Given the description of an element on the screen output the (x, y) to click on. 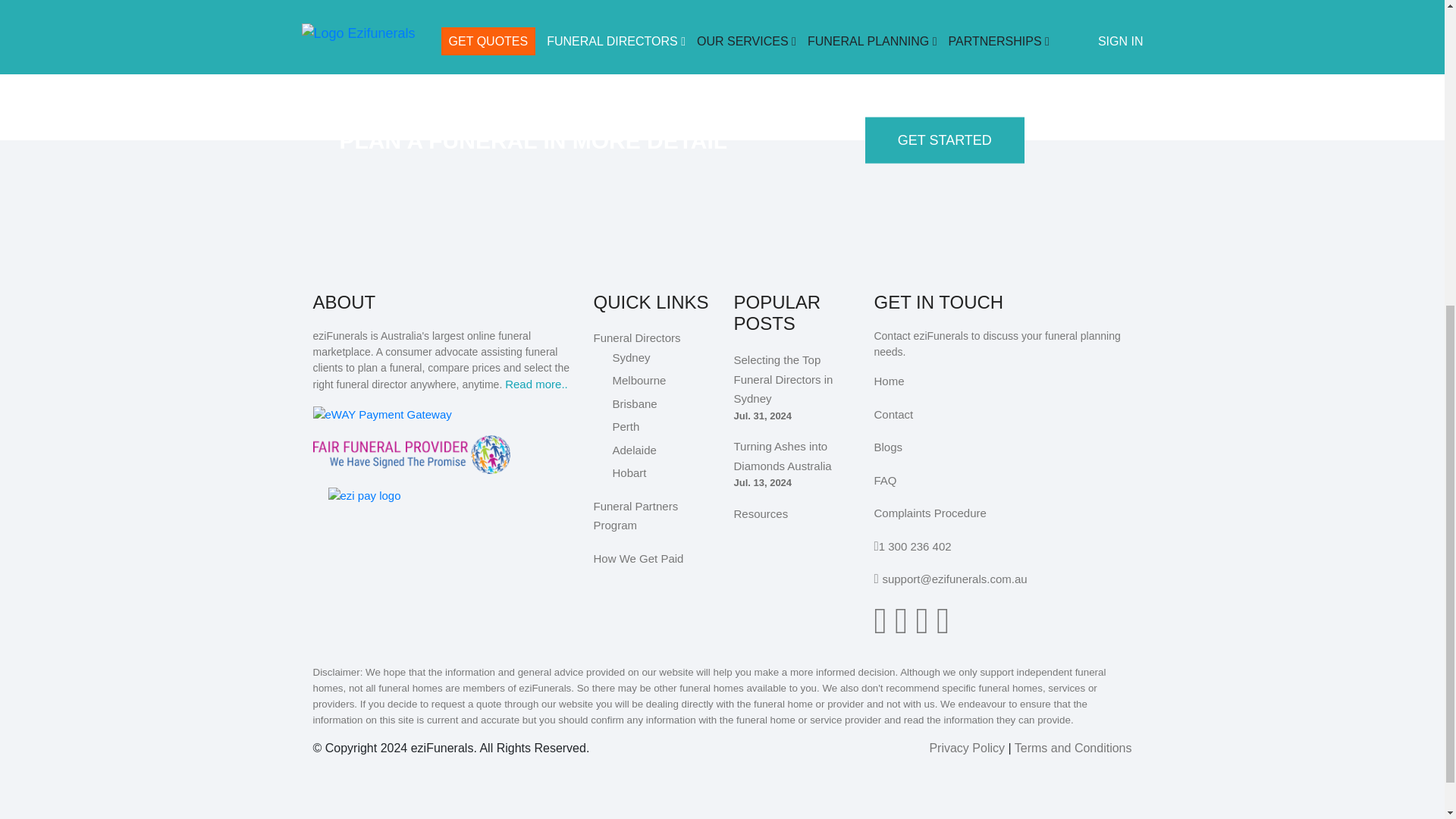
eWAY Payment Gateway (382, 413)
